Given the description of an element on the screen output the (x, y) to click on. 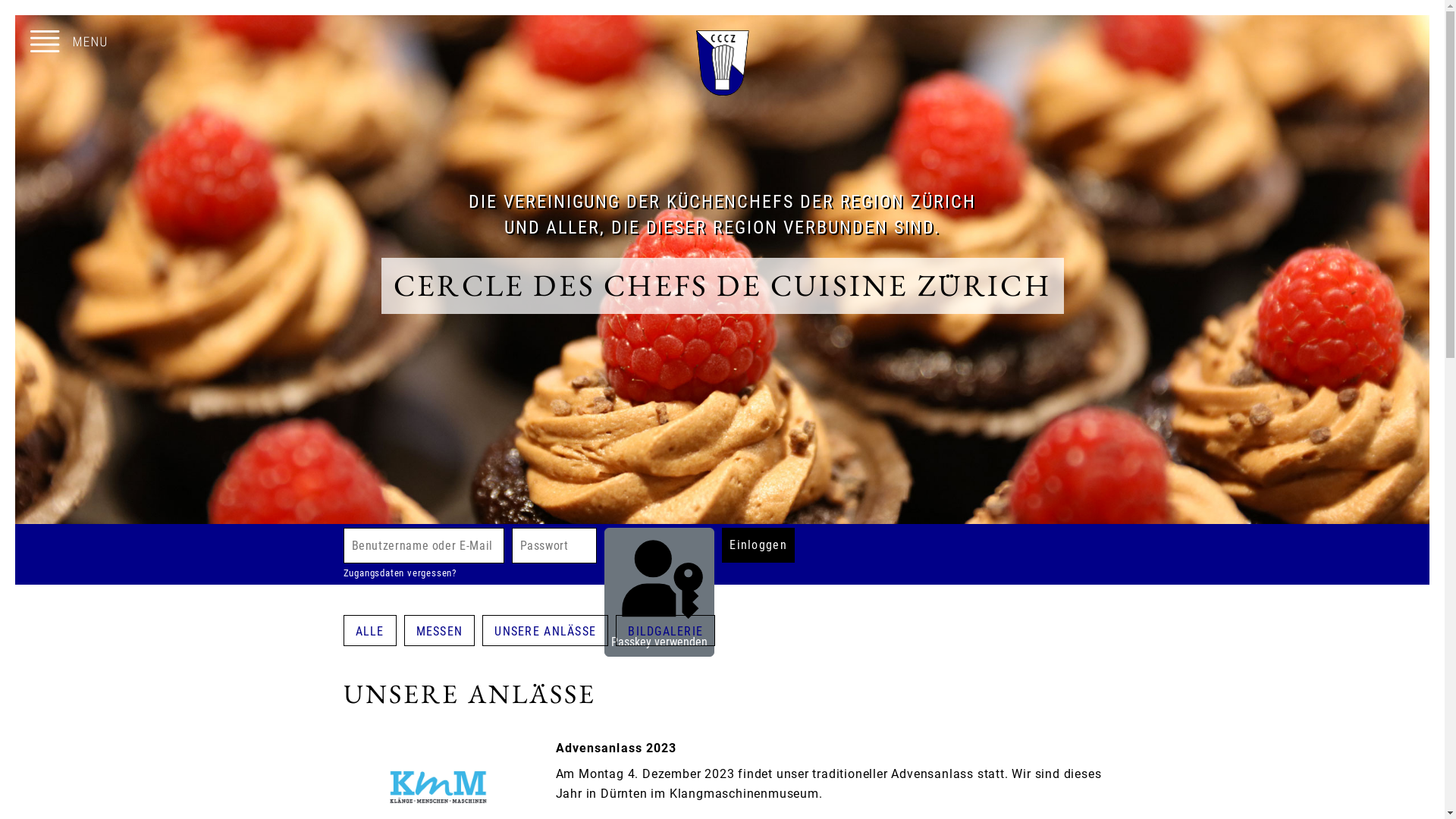
Einloggen Element type: text (757, 544)
Passkey verwenden Element type: text (658, 591)
BILDGALERIE Element type: text (665, 630)
Zugangsdaten vergessen? Element type: text (398, 572)
ALLE Element type: text (369, 630)
MESSEN Element type: text (439, 630)
